Given the description of an element on the screen output the (x, y) to click on. 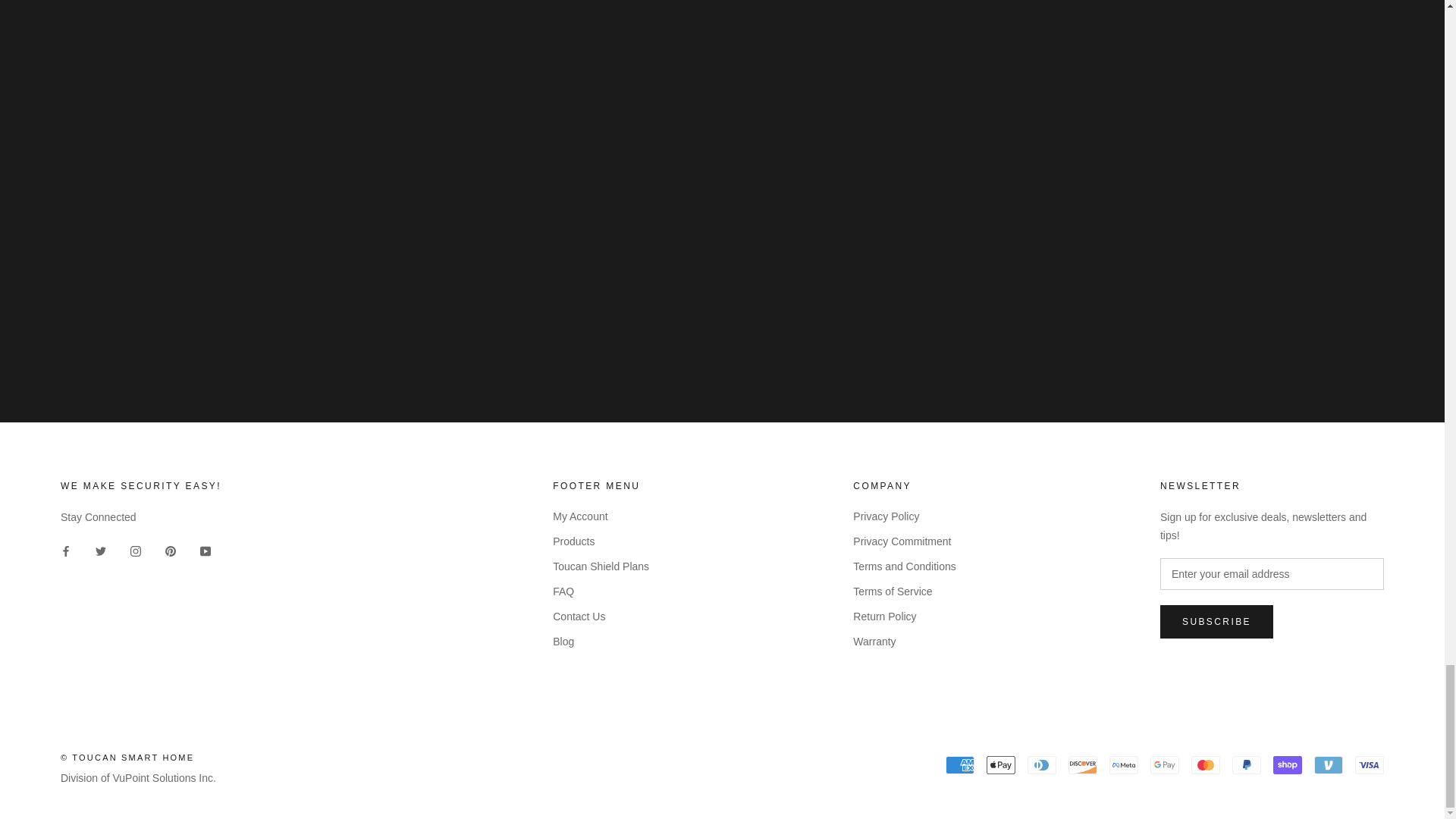
American Express (959, 764)
Mastercard (1205, 764)
Diners Club (1042, 764)
Apple Pay (1000, 764)
Google Pay (1164, 764)
Visa (1369, 764)
Shop Pay (1286, 764)
Discover (1082, 764)
Venmo (1328, 764)
Meta Pay (1123, 764)
